Given the description of an element on the screen output the (x, y) to click on. 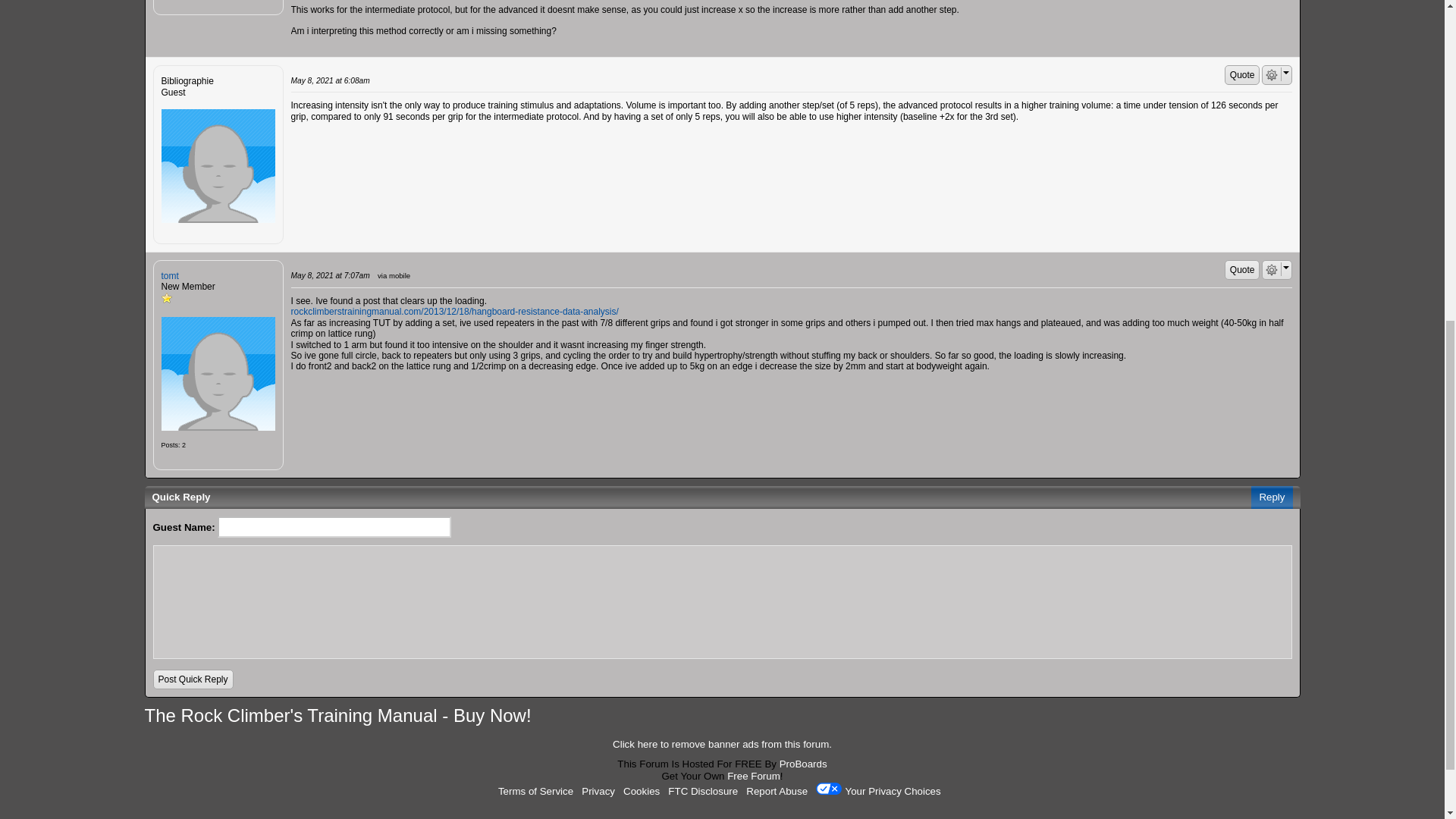
tomt (217, 373)
Guest (217, 165)
Post Quick Reply (192, 679)
Post Options (1270, 269)
Post Options (1270, 74)
